Given the description of an element on the screen output the (x, y) to click on. 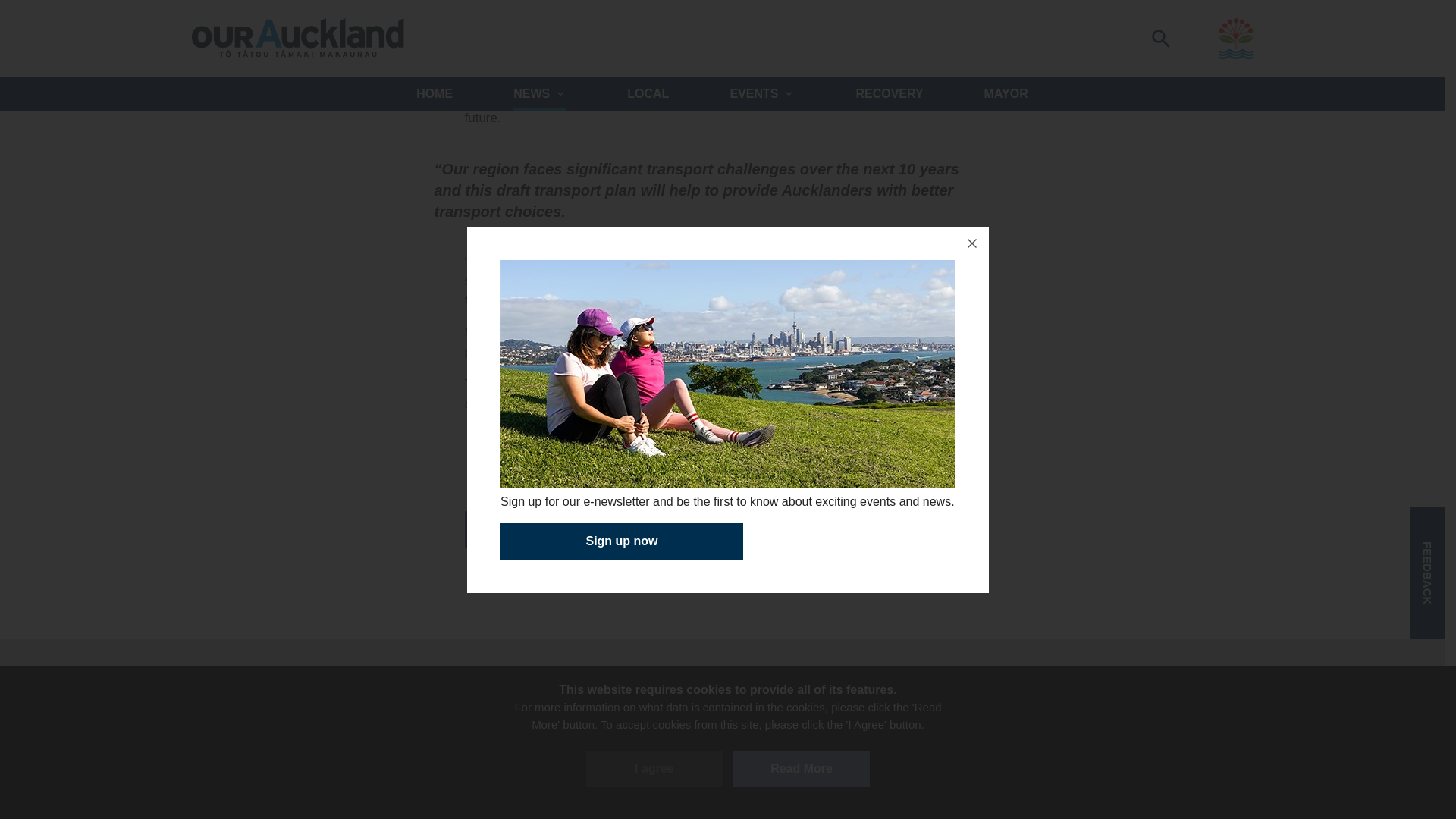
YouTube video player (721, 38)
